Given the description of an element on the screen output the (x, y) to click on. 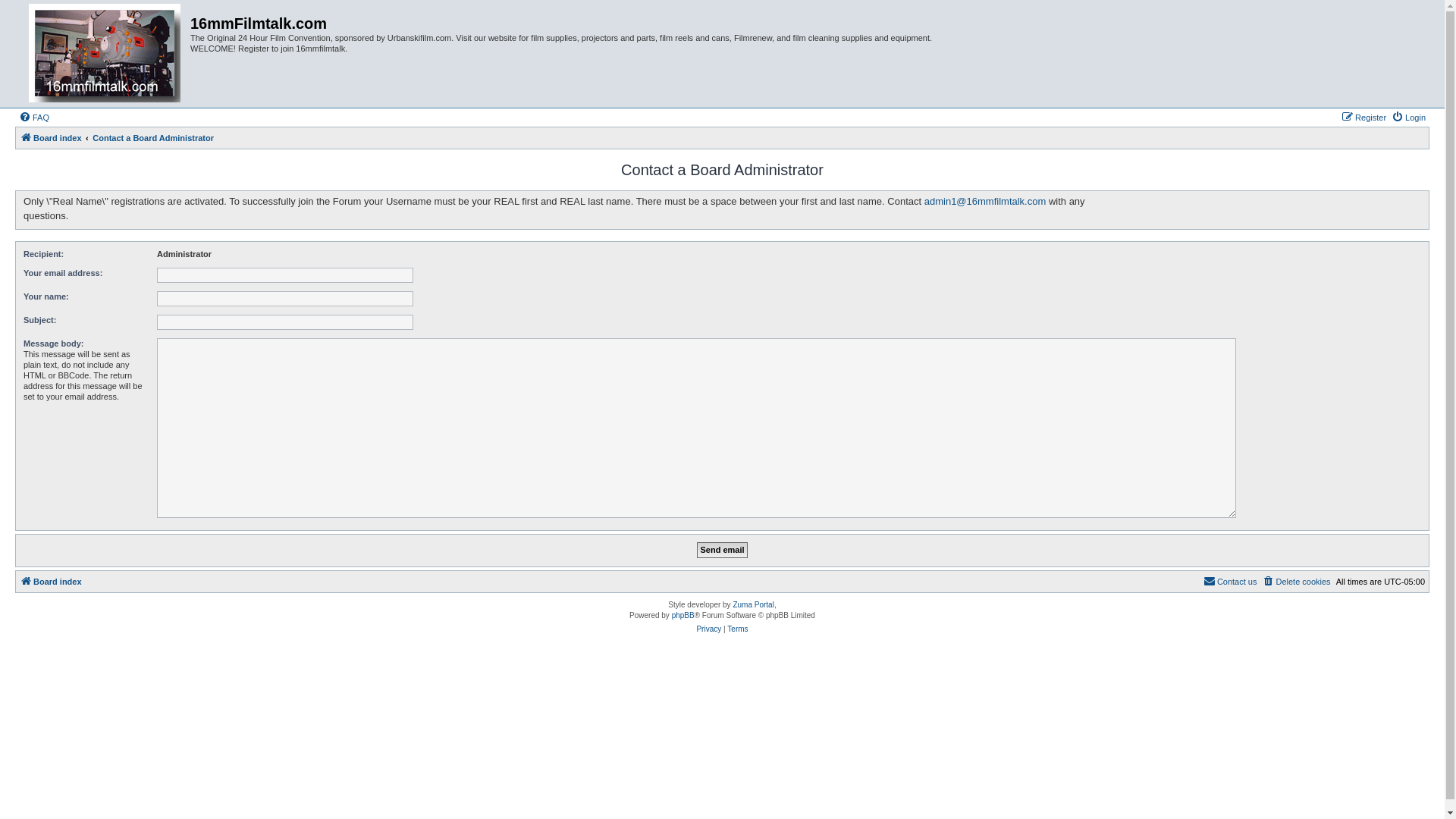
phpBB Element type: text (682, 615)
Contact us Element type: text (1230, 581)
Privacy Element type: text (708, 629)
Login Element type: text (1408, 117)
FAQ Element type: text (33, 117)
Zuma Portal Element type: text (752, 604)
Register Element type: text (1363, 117)
Board index Element type: hover (104, 53)
Terms Element type: text (737, 629)
Contact a Board Administrator Element type: text (152, 137)
Board index Element type: text (50, 137)
Delete cookies Element type: text (1295, 581)
Send email Element type: text (721, 550)
Board index Element type: text (50, 581)
admin1@16mmfilmtalk.com Element type: text (985, 201)
